Given the description of an element on the screen output the (x, y) to click on. 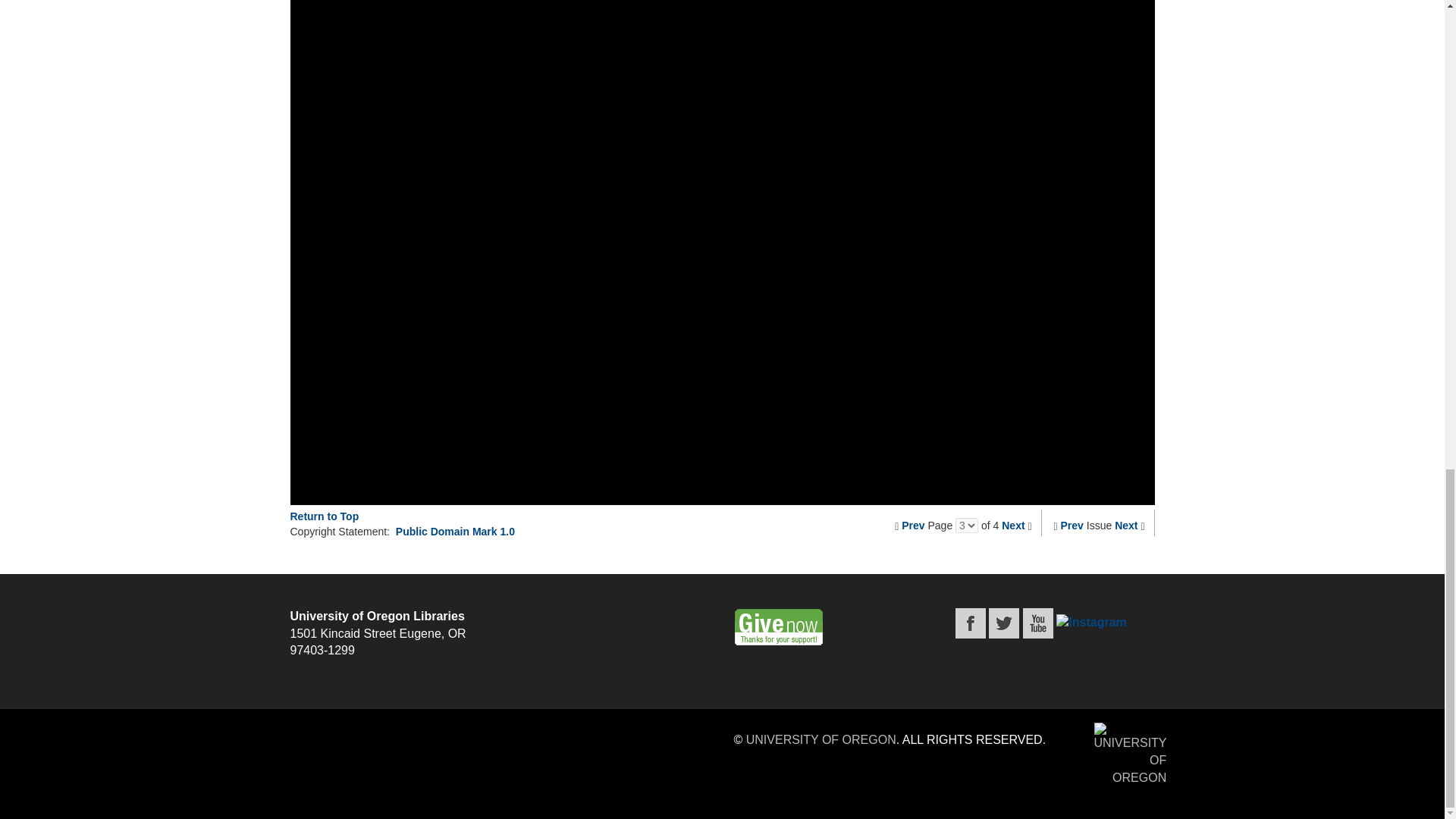
Prev (912, 525)
Next (1013, 525)
Public Domain Mark 1.0 (455, 531)
Prev (1072, 525)
Return to Top (323, 516)
Next (1126, 525)
